Given the description of an element on the screen output the (x, y) to click on. 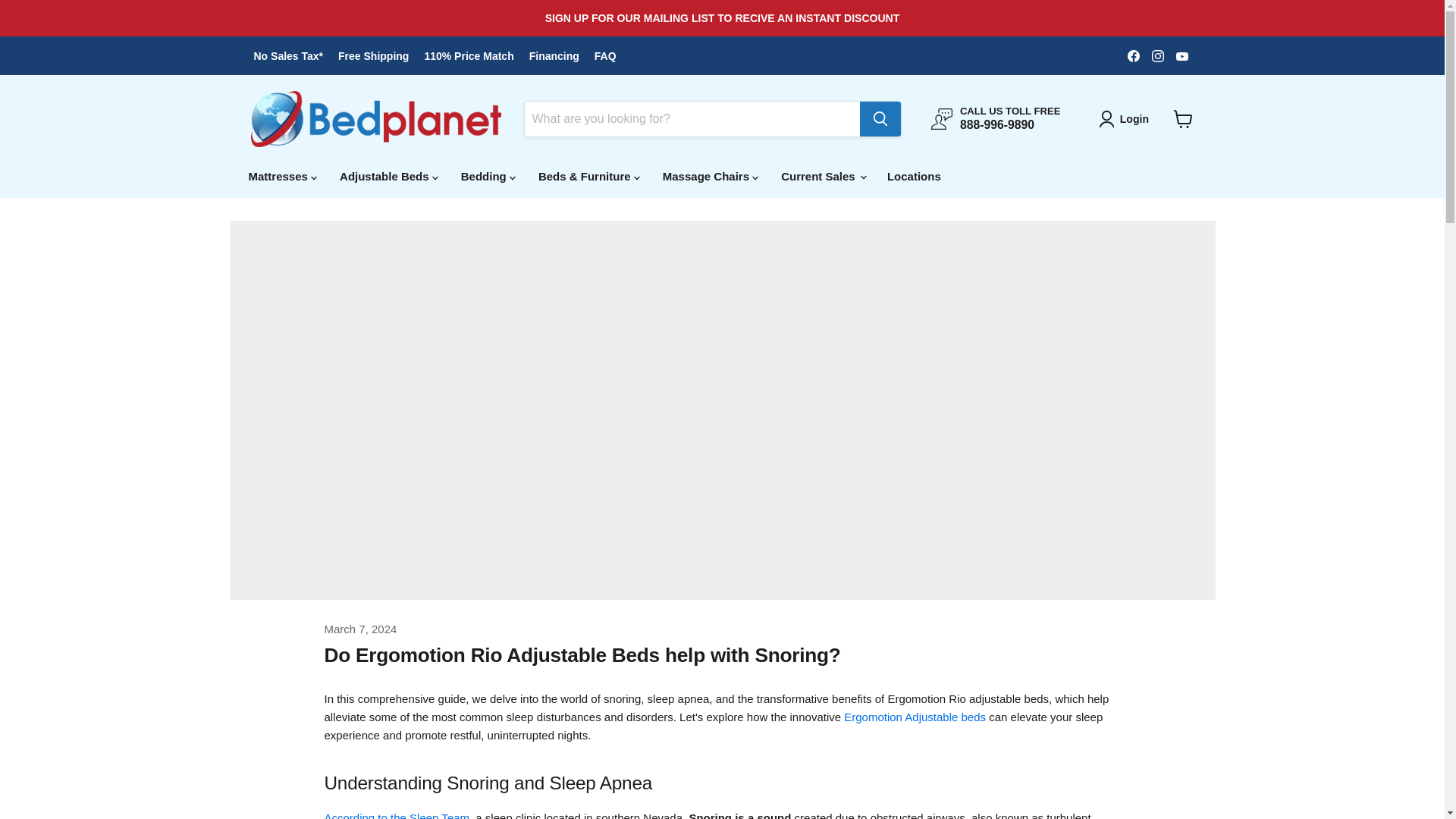
Facebook (1133, 55)
Find us on Instagram (1158, 55)
Instagram (1158, 55)
Financing (554, 55)
Free Shipping (373, 55)
Login (1126, 118)
Find us on Facebook (1133, 55)
View cart (1182, 118)
FAQ (604, 55)
YouTube (1182, 55)
